Given the description of an element on the screen output the (x, y) to click on. 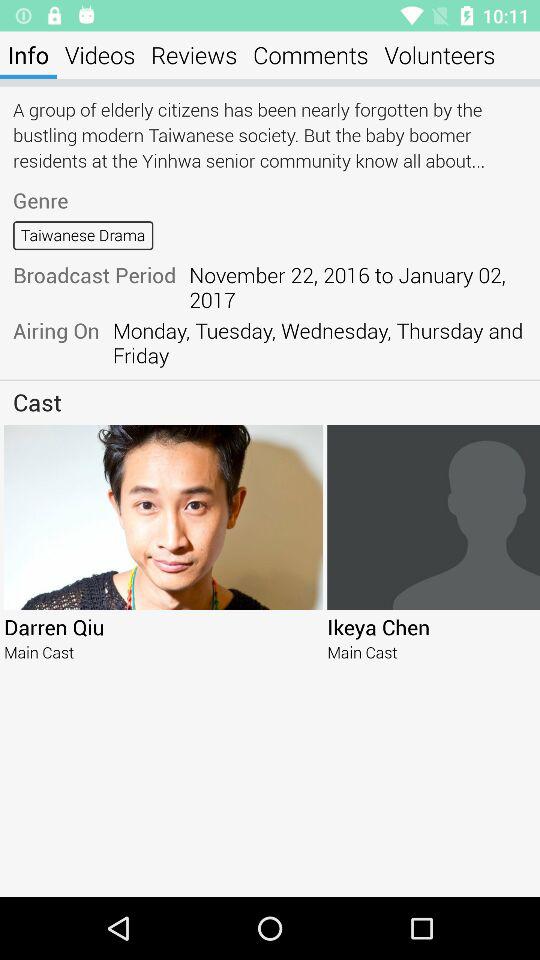
tap a group of (269, 134)
